Given the description of an element on the screen output the (x, y) to click on. 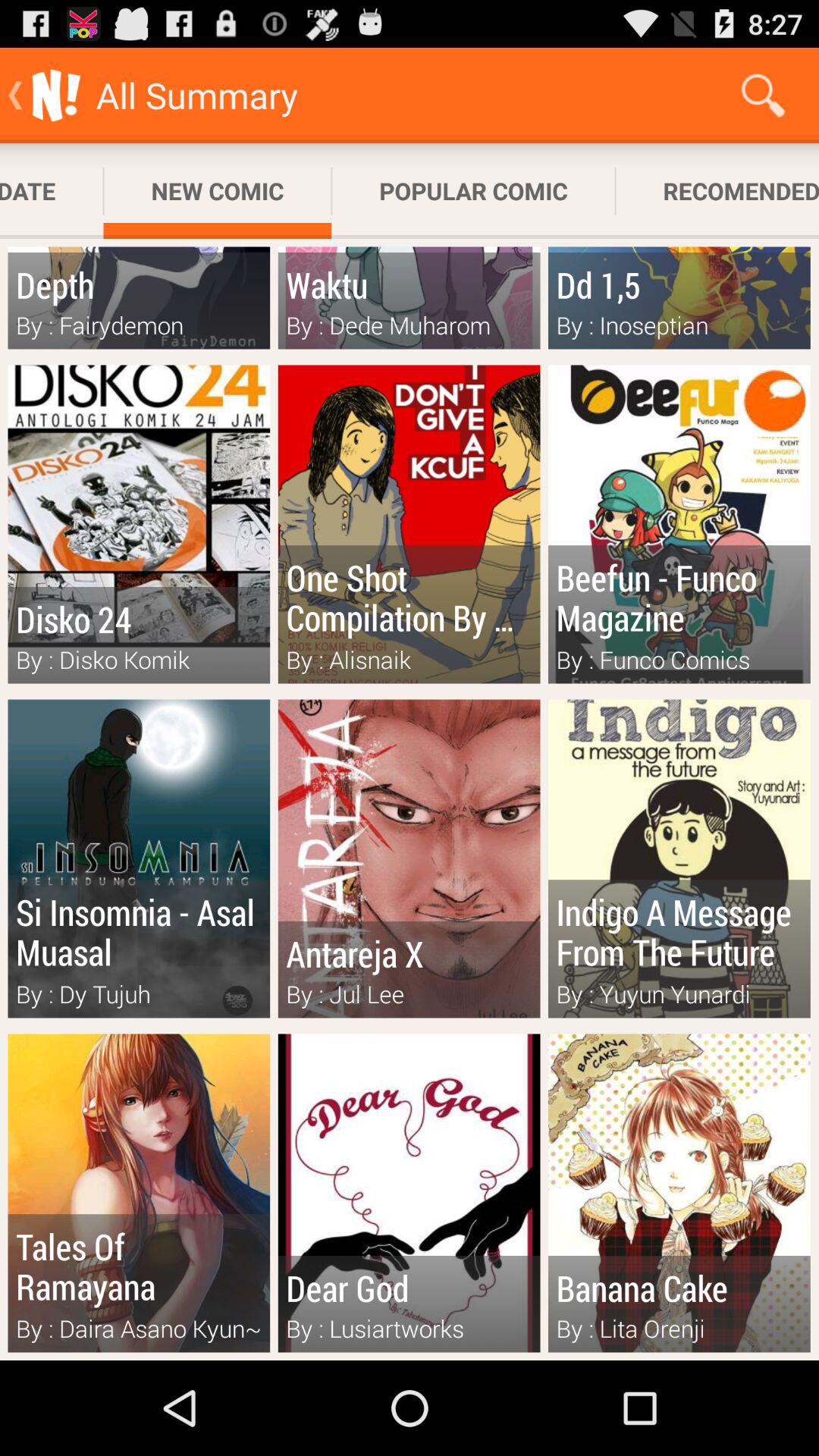
choose the popular comic (473, 190)
